Given the description of an element on the screen output the (x, y) to click on. 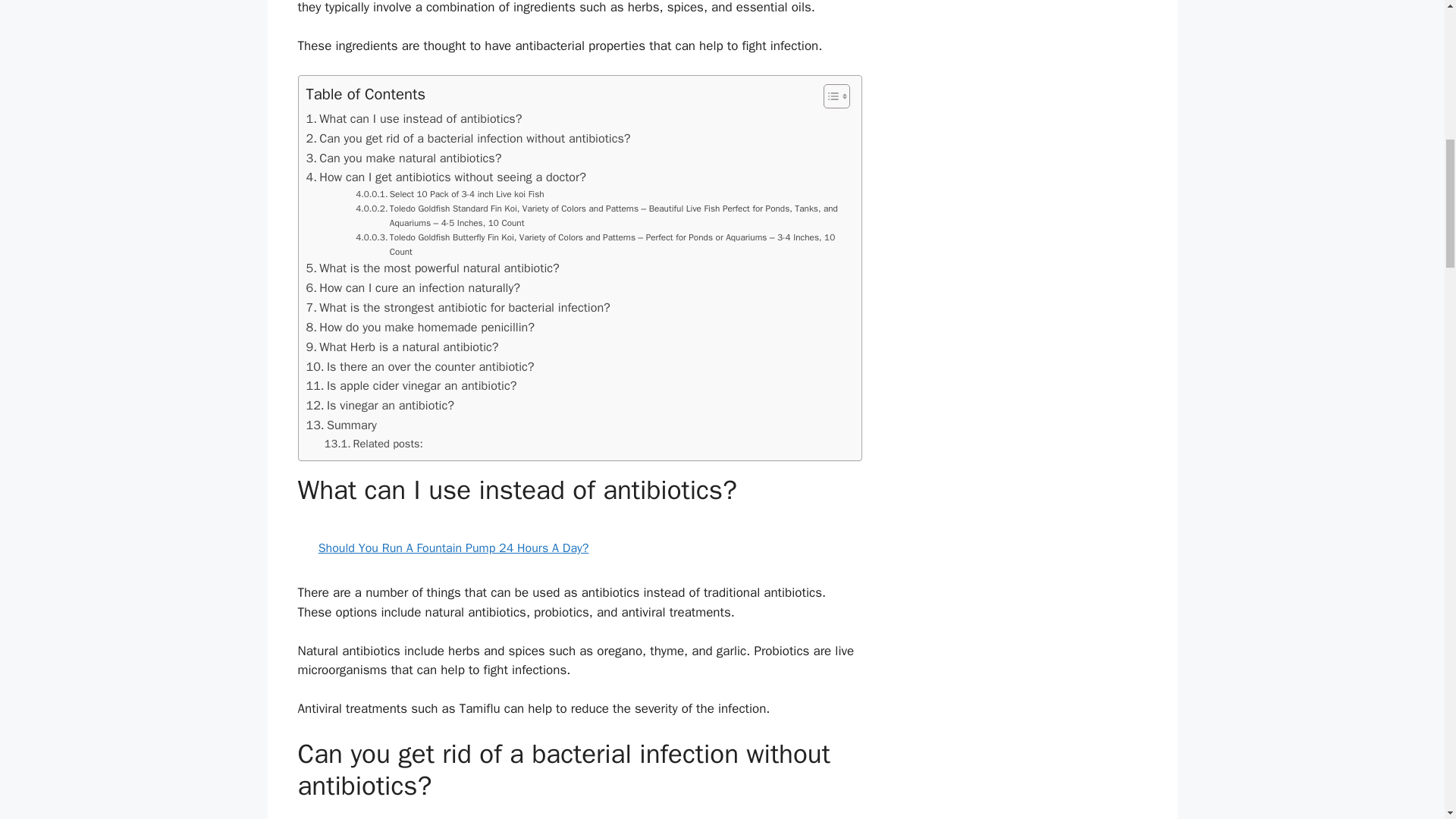
Is there an over the counter antibiotic? (419, 366)
What is the most powerful natural antibiotic? (432, 268)
How can I get antibiotics without seeing a doctor? (445, 177)
Is vinegar an antibiotic? (379, 405)
  Should You Run A Fountain Pump 24 Hours A Day? (579, 547)
What is the strongest antibiotic for bacterial infection? (457, 307)
Is apple cider vinegar an antibiotic? (410, 385)
Select 10 Pack of 3-4 inch Live koi Fish (449, 194)
Select 10 Pack of 3-4 inch Live koi Fish (449, 194)
How can I get antibiotics without seeing a doctor? (445, 177)
What can I use instead of antibiotics? (413, 118)
What Herb is a natural antibiotic? (402, 347)
What is the most powerful natural antibiotic? (432, 268)
